Given the description of an element on the screen output the (x, y) to click on. 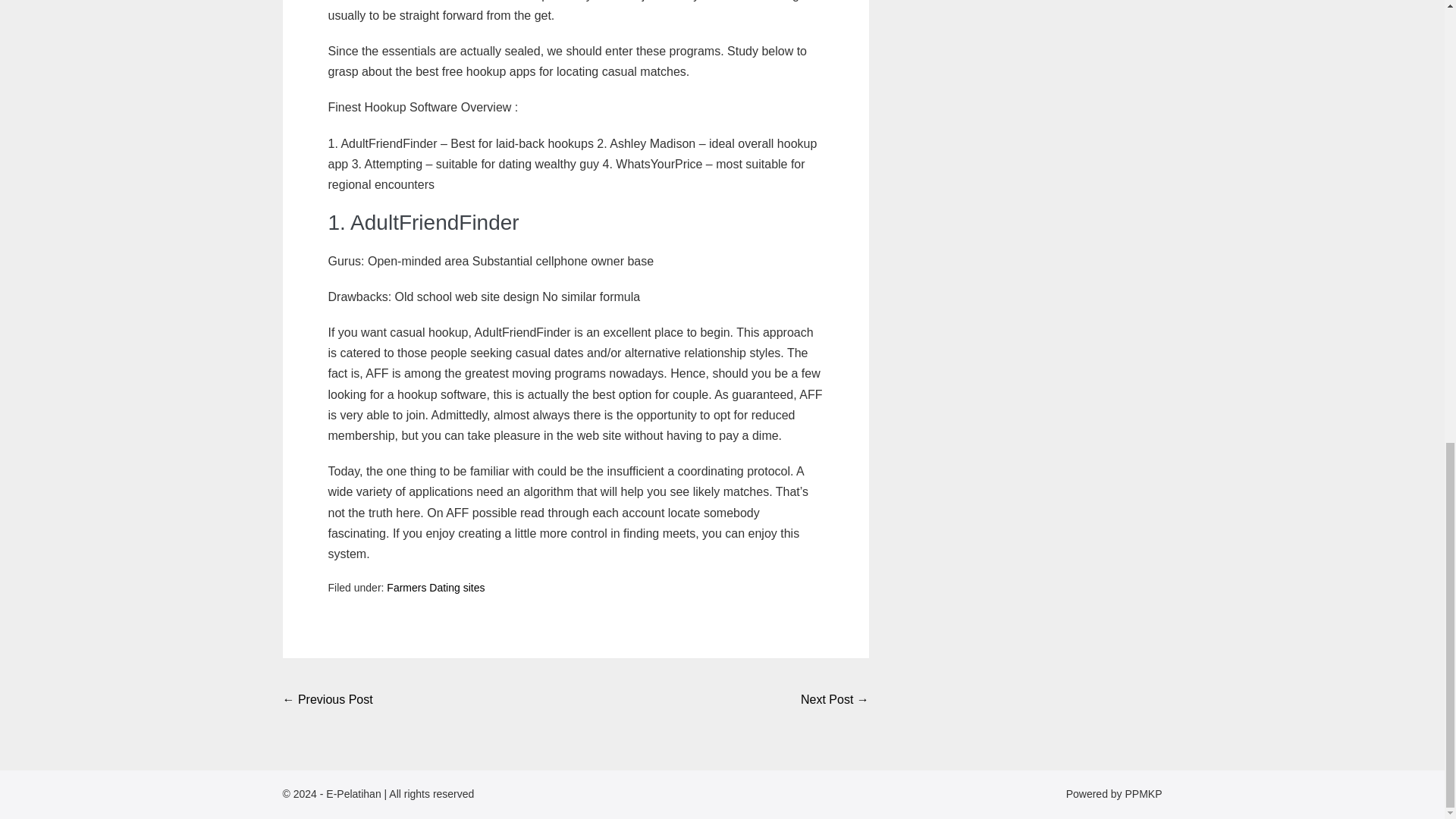
Farmers Dating sites (435, 587)
